Given the description of an element on the screen output the (x, y) to click on. 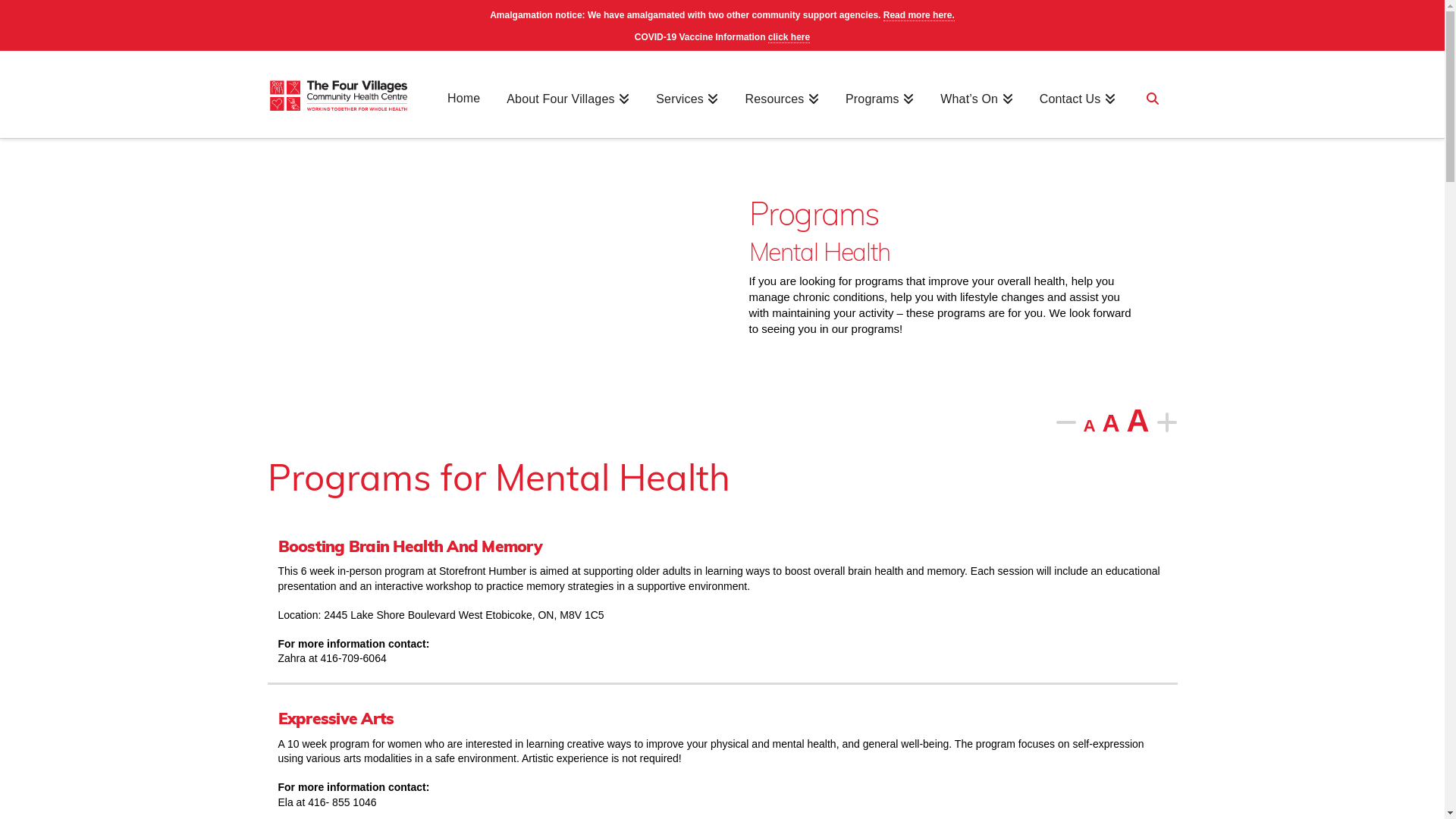
click here Element type: text (788, 37)
Read more here. Element type: text (918, 15)
A
Increase font size. Element type: text (1137, 420)
Home Element type: text (463, 111)
Contact Us Element type: text (1077, 111)
Programs Element type: text (879, 111)
Services Element type: text (686, 111)
A
Reset font size. Element type: text (1111, 422)
A
Decrease font size. Element type: text (1088, 425)
About Four Villages Element type: text (567, 111)
Resources Element type: text (782, 111)
